Given the description of an element on the screen output the (x, y) to click on. 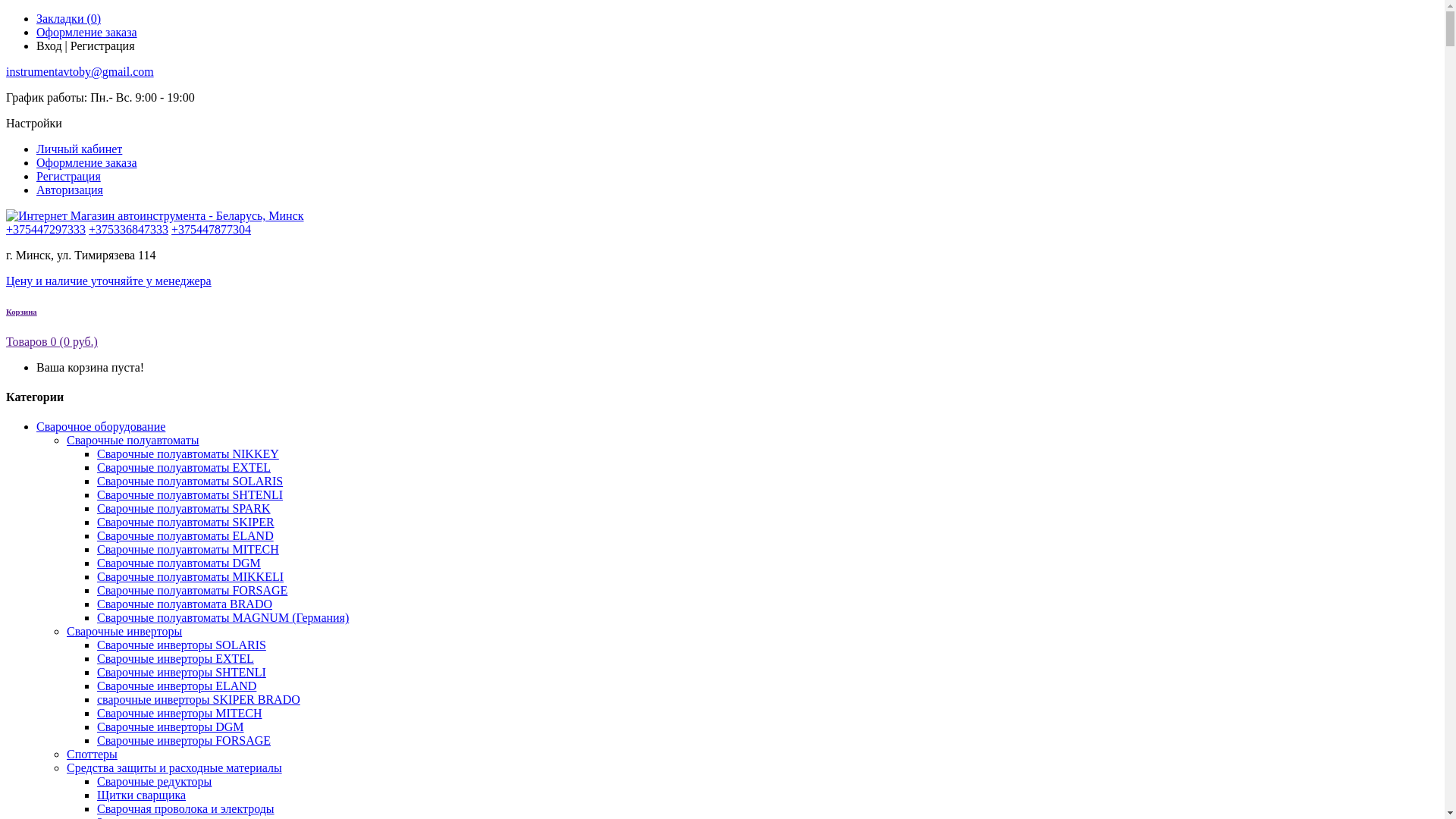
+375447877304 Element type: text (211, 228)
instrumentavtoby@gmail.com Element type: text (79, 71)
+375447297333 Element type: text (45, 228)
+375336847333 Element type: text (128, 228)
